Given the description of an element on the screen output the (x, y) to click on. 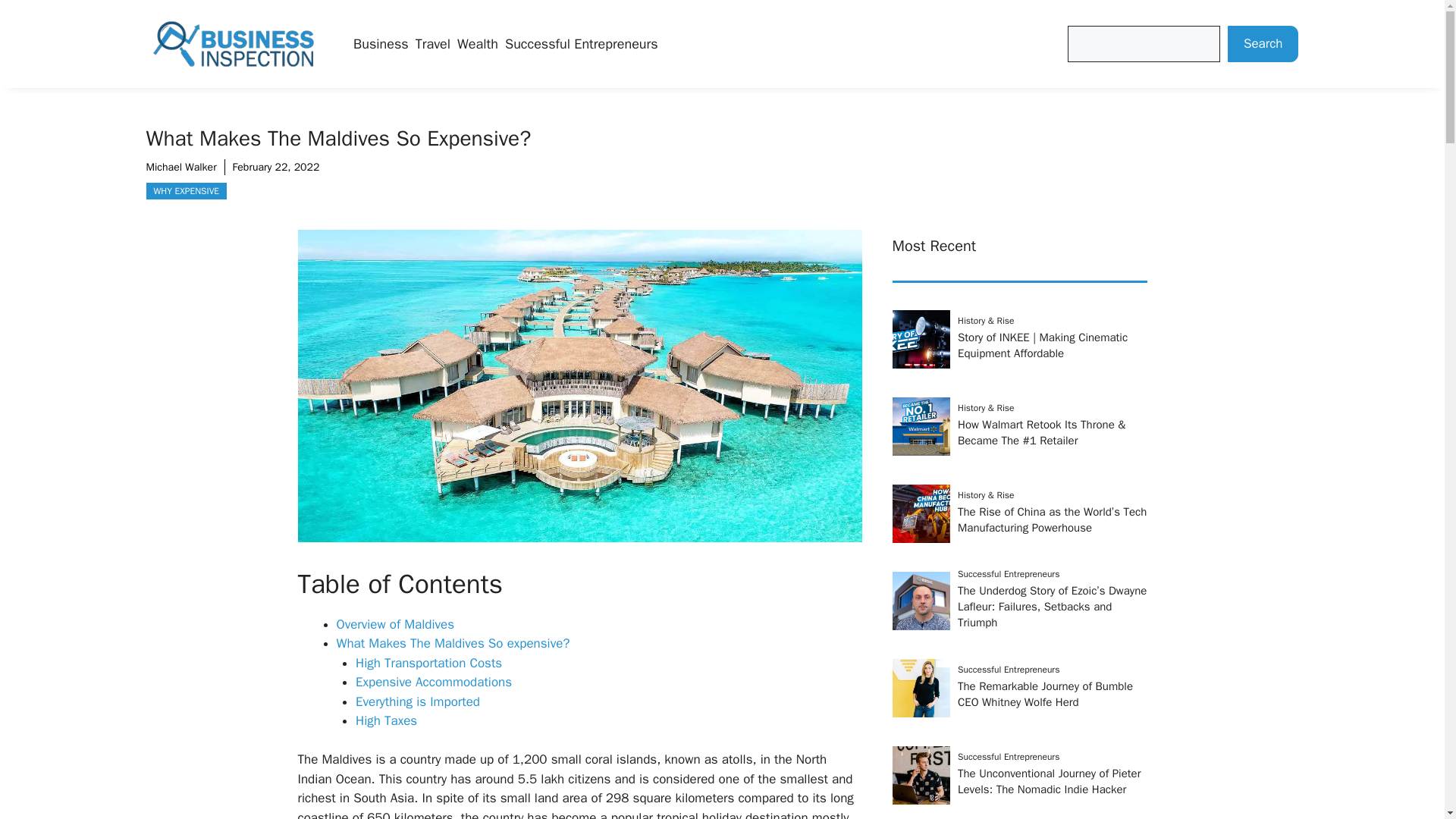
Wealth (477, 44)
Business (381, 44)
Search (1262, 43)
Successful Entrepreneurs (581, 44)
Everything is Imported (417, 701)
Expensive Accommodations (433, 682)
High Taxes (385, 720)
Travel (431, 44)
Michael Walker (180, 166)
WHY EXPENSIVE (186, 190)
Overview of Maldives (395, 624)
What Makes The Maldives So expensive? (453, 643)
High Transportation Costs (428, 662)
